Given the description of an element on the screen output the (x, y) to click on. 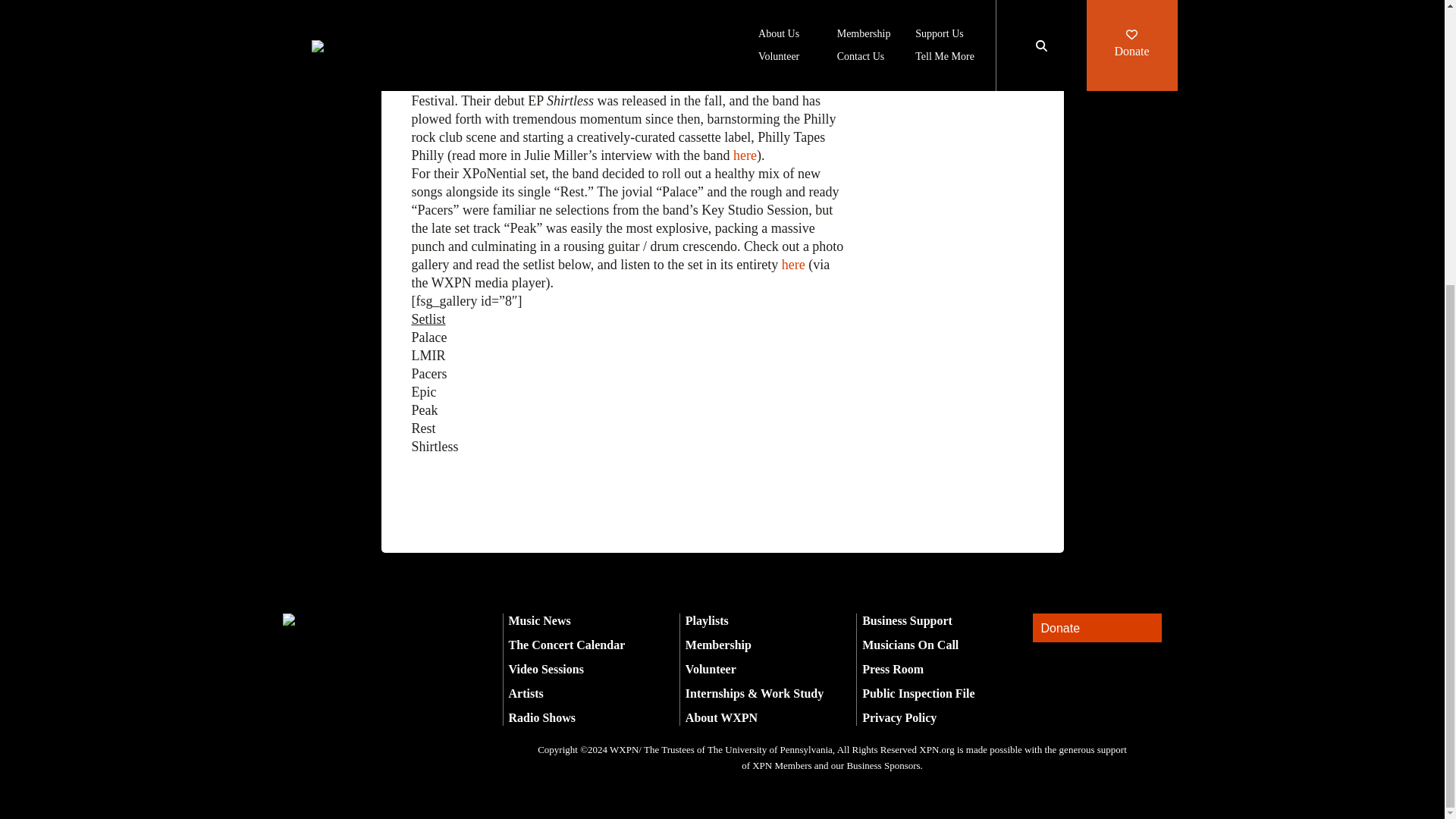
Donate (1096, 627)
Artists (525, 693)
Privacy Policy (898, 717)
Membership (718, 644)
Commonwealth Choir (657, 64)
About WXPN (721, 717)
Musicians On Call (909, 644)
Video Sessions (545, 668)
Music News (539, 620)
Press Room (892, 668)
here (745, 155)
Business Support (906, 620)
The Concert Calendar (566, 644)
silvestography.com (738, 46)
Public Inspection File (917, 693)
